Given the description of an element on the screen output the (x, y) to click on. 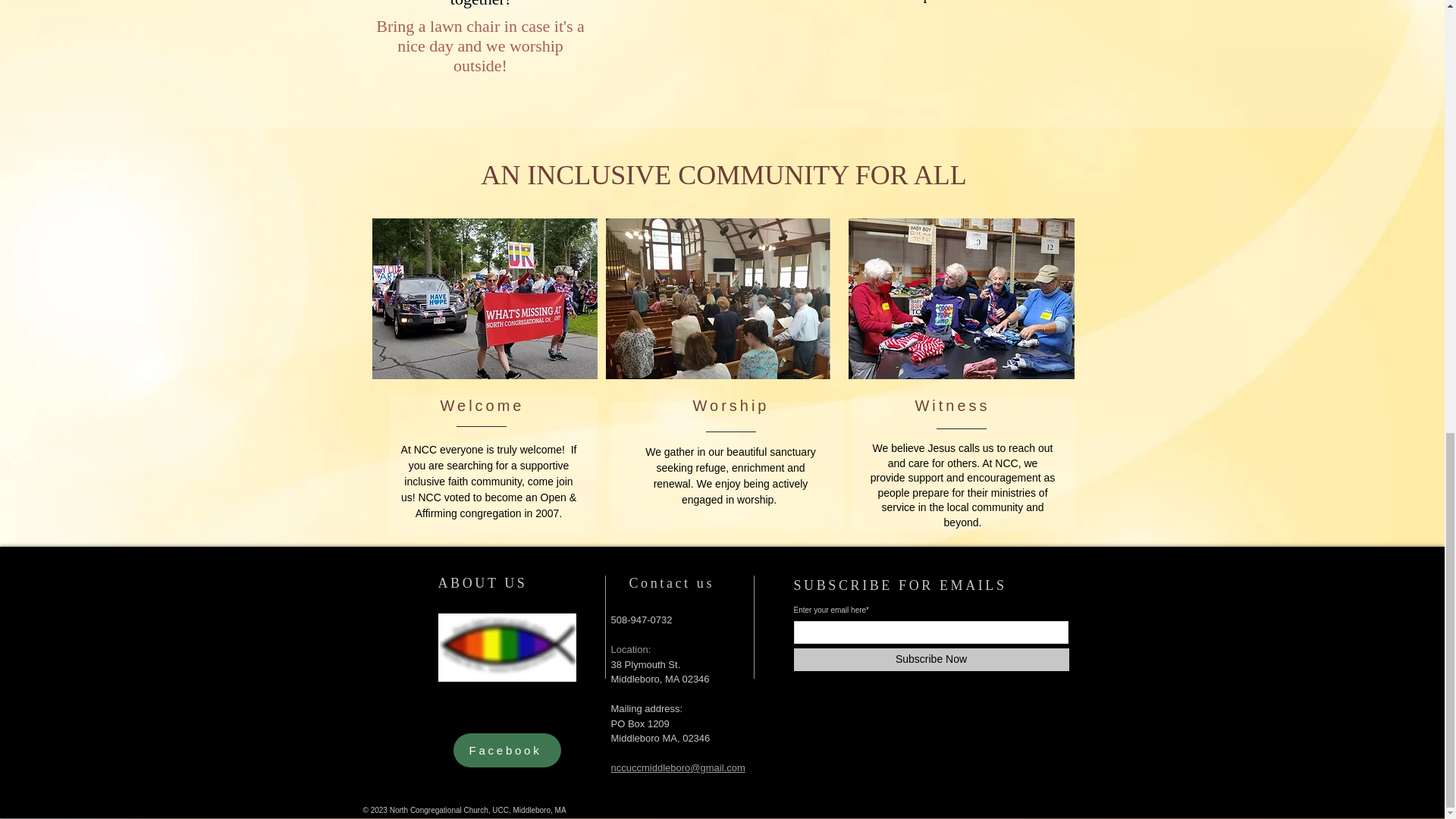
Subscribe Now (930, 659)
ONA5.jpg (507, 647)
Facebook (506, 750)
